Given the description of an element on the screen output the (x, y) to click on. 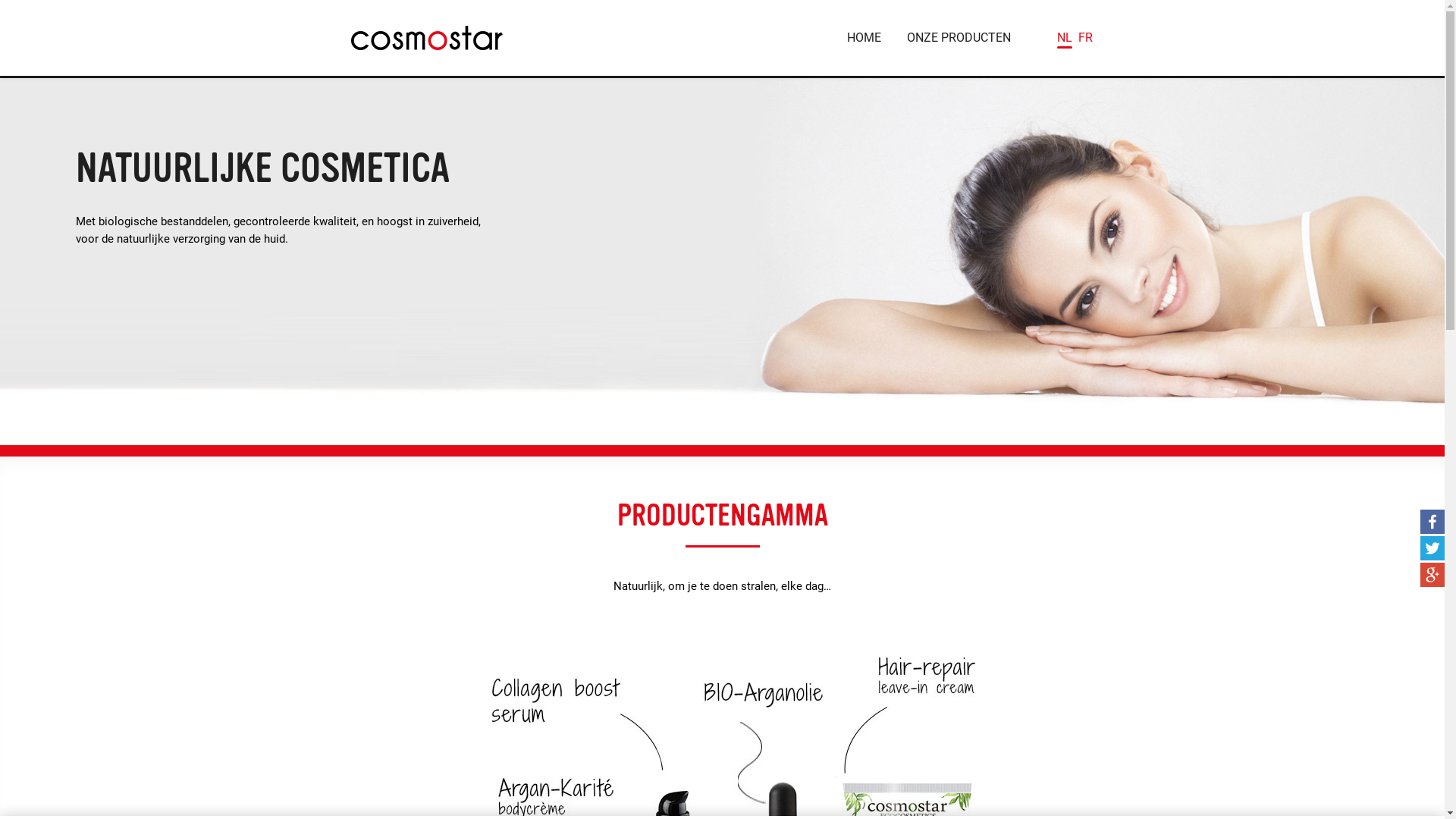
NL Element type: text (1064, 37)
HOME Element type: text (863, 37)
FR Element type: text (1085, 37)
ONZE PRODUCTEN Element type: text (957, 37)
